Given the description of an element on the screen output the (x, y) to click on. 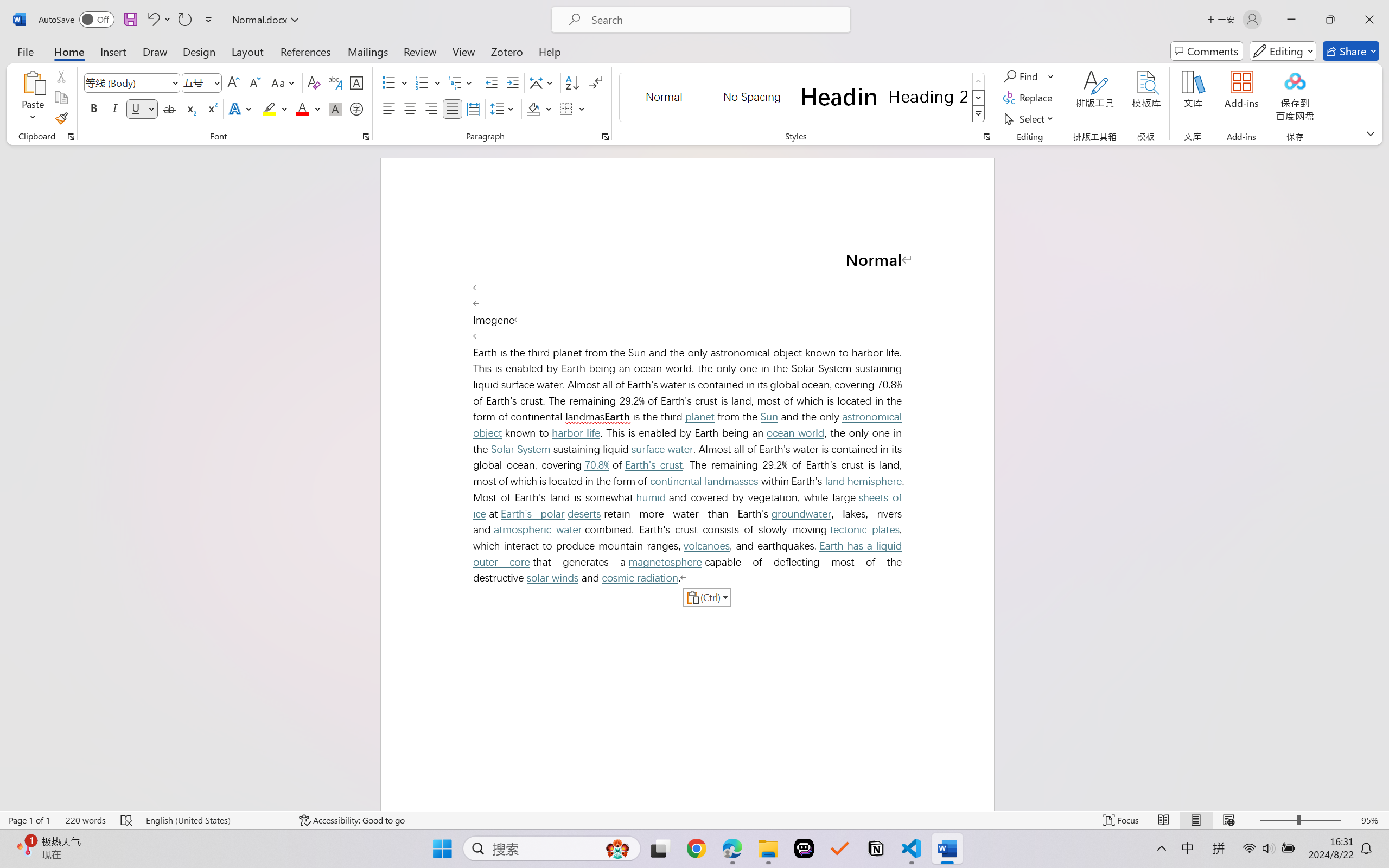
Sort... (571, 82)
volcanoes (706, 546)
Text Highlight Color (274, 108)
Grow Font (233, 82)
Sun (769, 416)
